Given the description of an element on the screen output the (x, y) to click on. 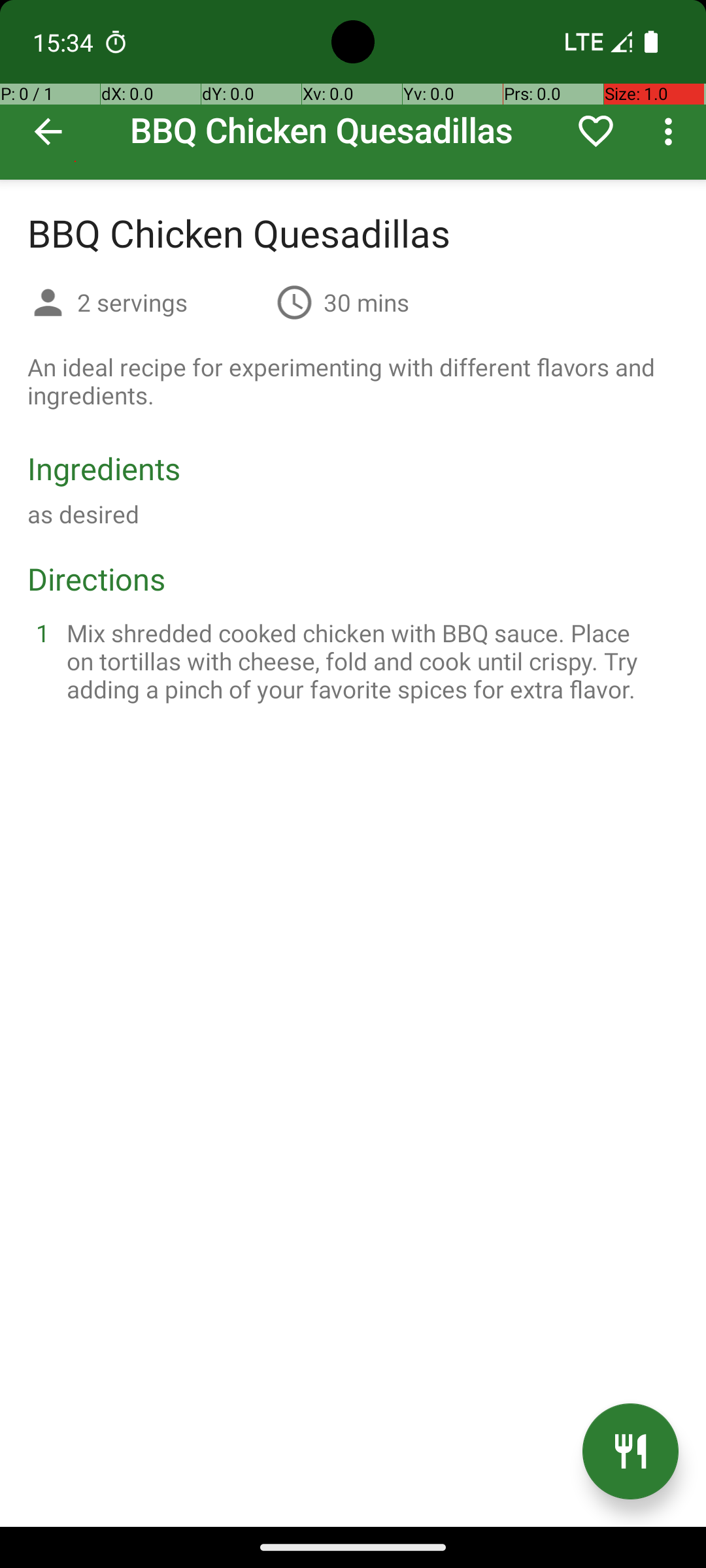
Mix shredded cooked chicken with BBQ sauce. Place on tortillas with cheese, fold and cook until crispy. Try adding a pinch of your favorite spices for extra flavor. Element type: android.widget.TextView (368, 660)
